Given the description of an element on the screen output the (x, y) to click on. 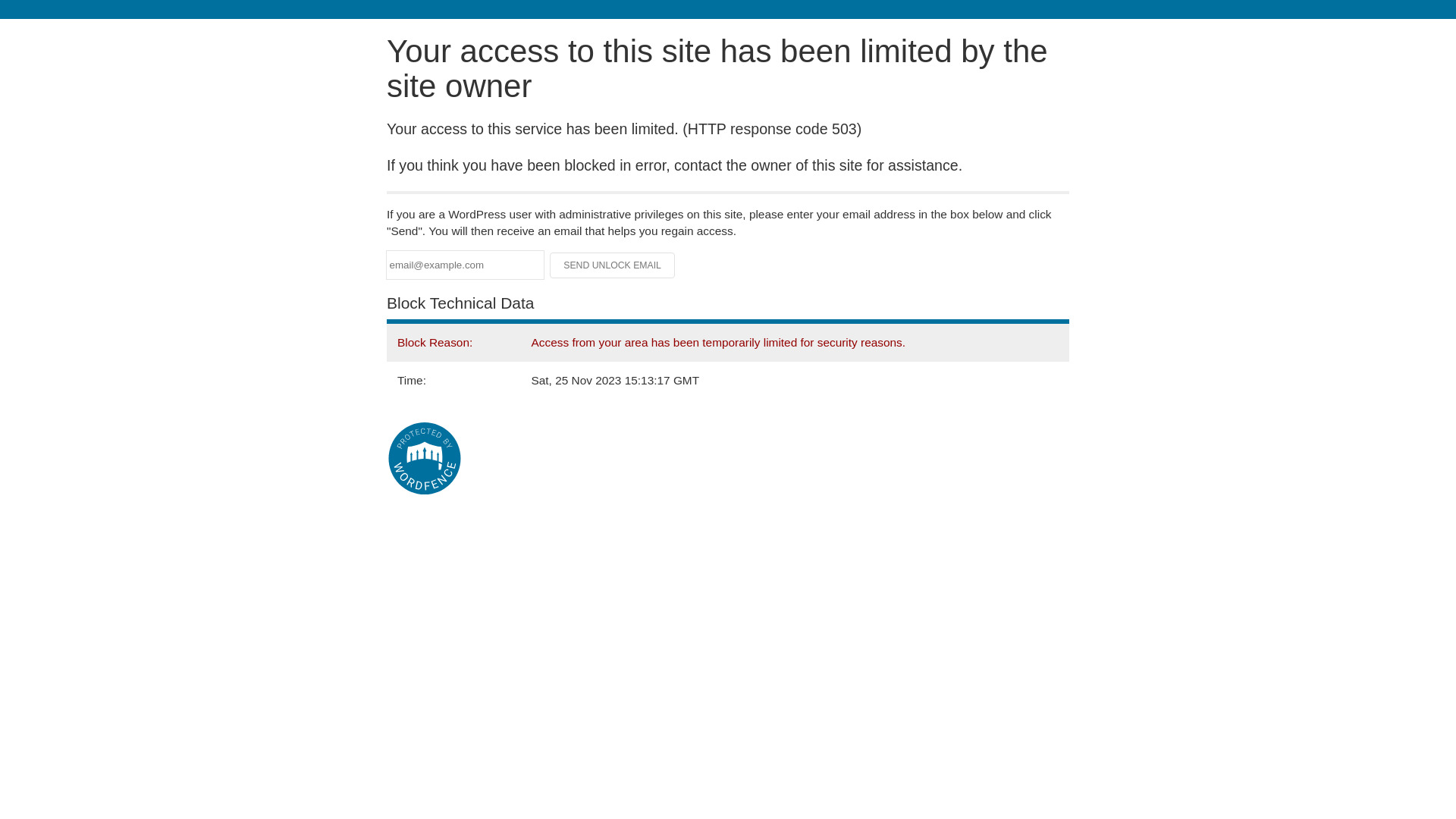
Send Unlock Email Element type: text (612, 265)
